Given the description of an element on the screen output the (x, y) to click on. 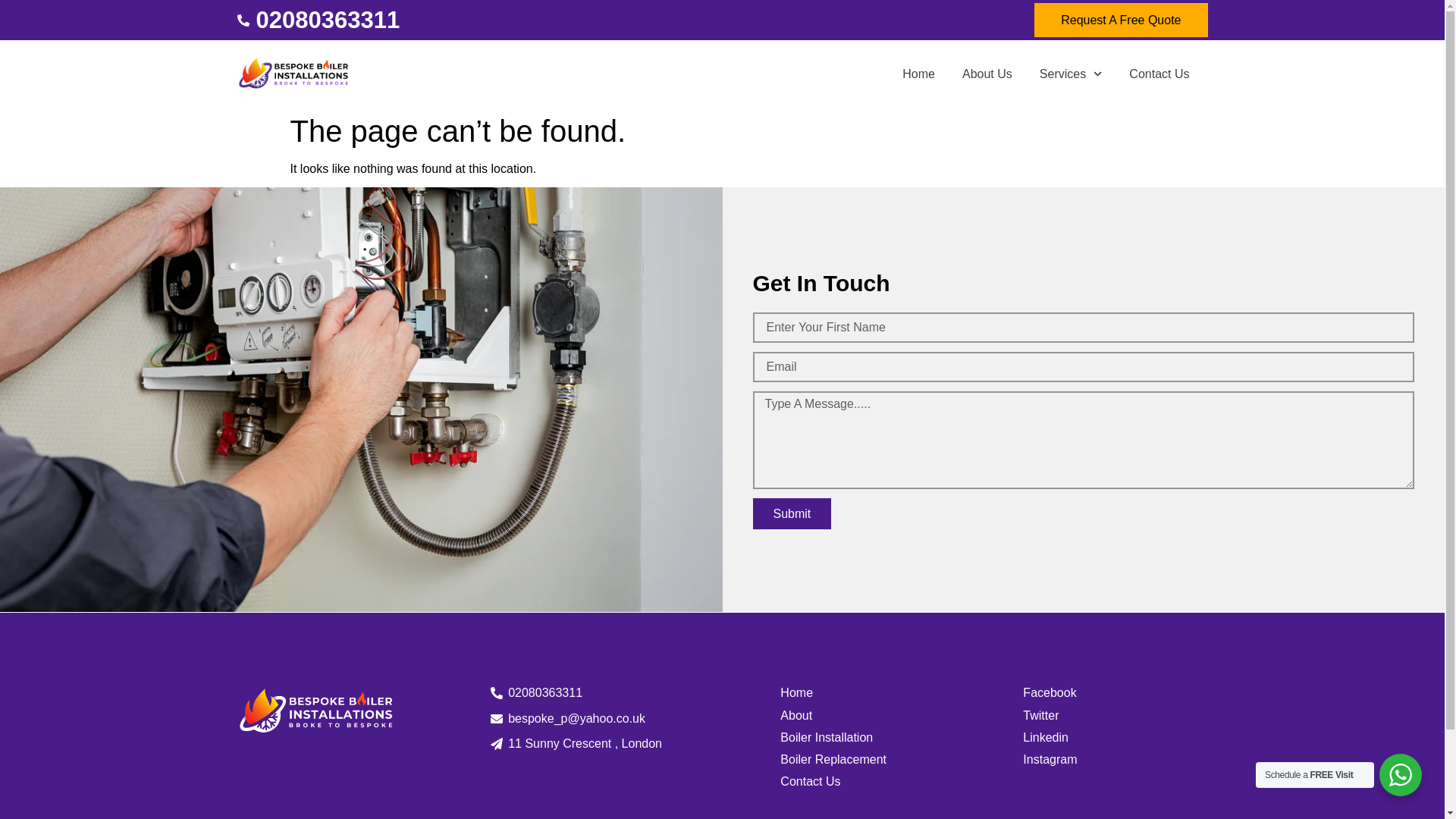
02080363311 (584, 692)
Submit (791, 513)
About Us (987, 73)
11 Sunny Crescent , London (584, 743)
Home (901, 692)
Facebook (1115, 692)
Boiler Installation (901, 737)
Request A Free Quote (1120, 19)
Contact Us (901, 780)
Services (1071, 73)
About (901, 715)
Home (917, 73)
Contact Us (1158, 73)
02080363311 (316, 19)
Boiler Replacement (901, 759)
